Given the description of an element on the screen output the (x, y) to click on. 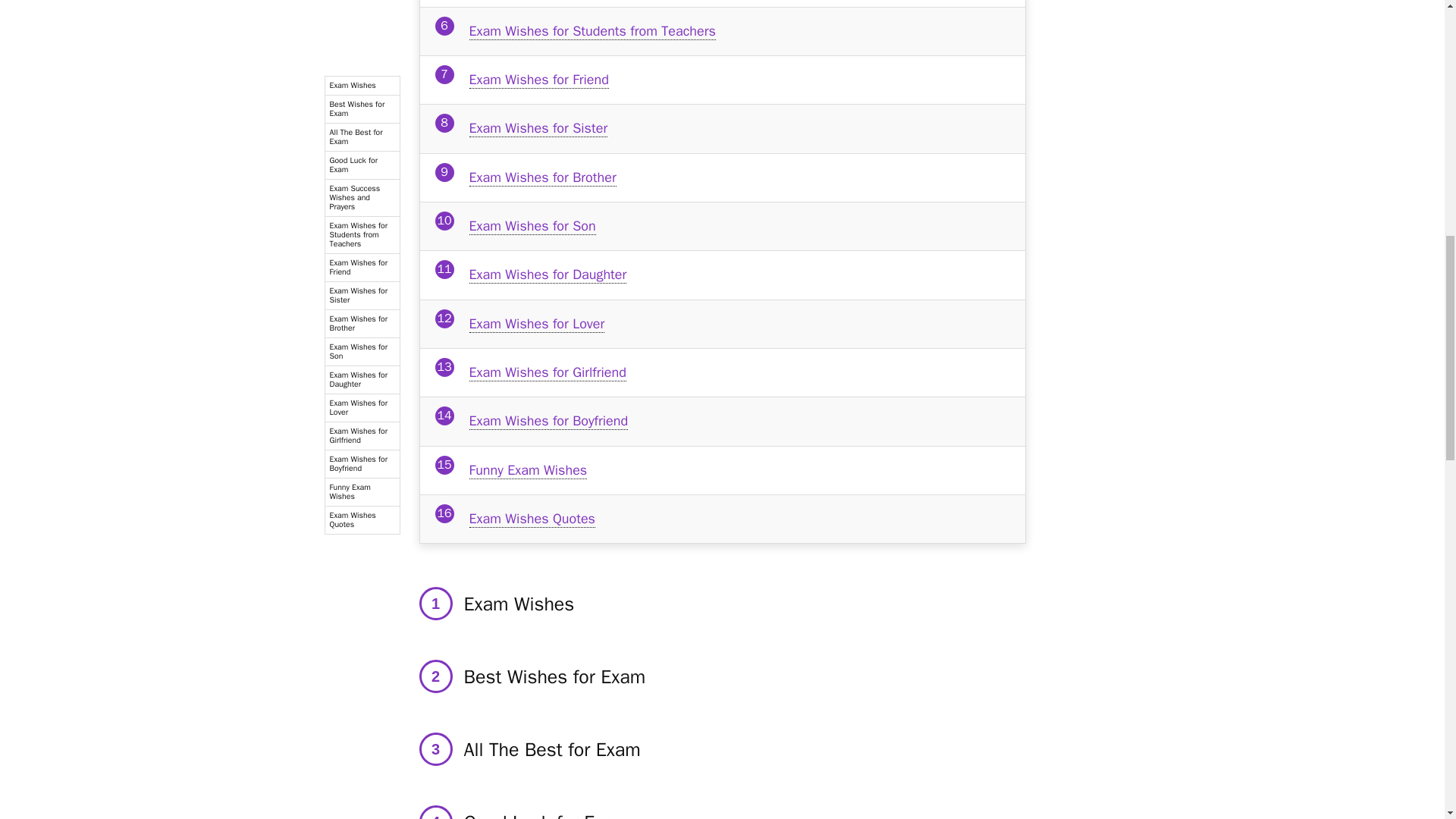
Exam Wishes for Friend (538, 79)
Exam Wishes for Lover (536, 323)
Exam Wishes for Daughter (547, 274)
Exam Wishes for Son (531, 226)
Exam Wishes for Students from Teachers (591, 31)
Exam Wishes for Sister (537, 128)
Exam Wishes for Brother (541, 177)
